Given the description of an element on the screen output the (x, y) to click on. 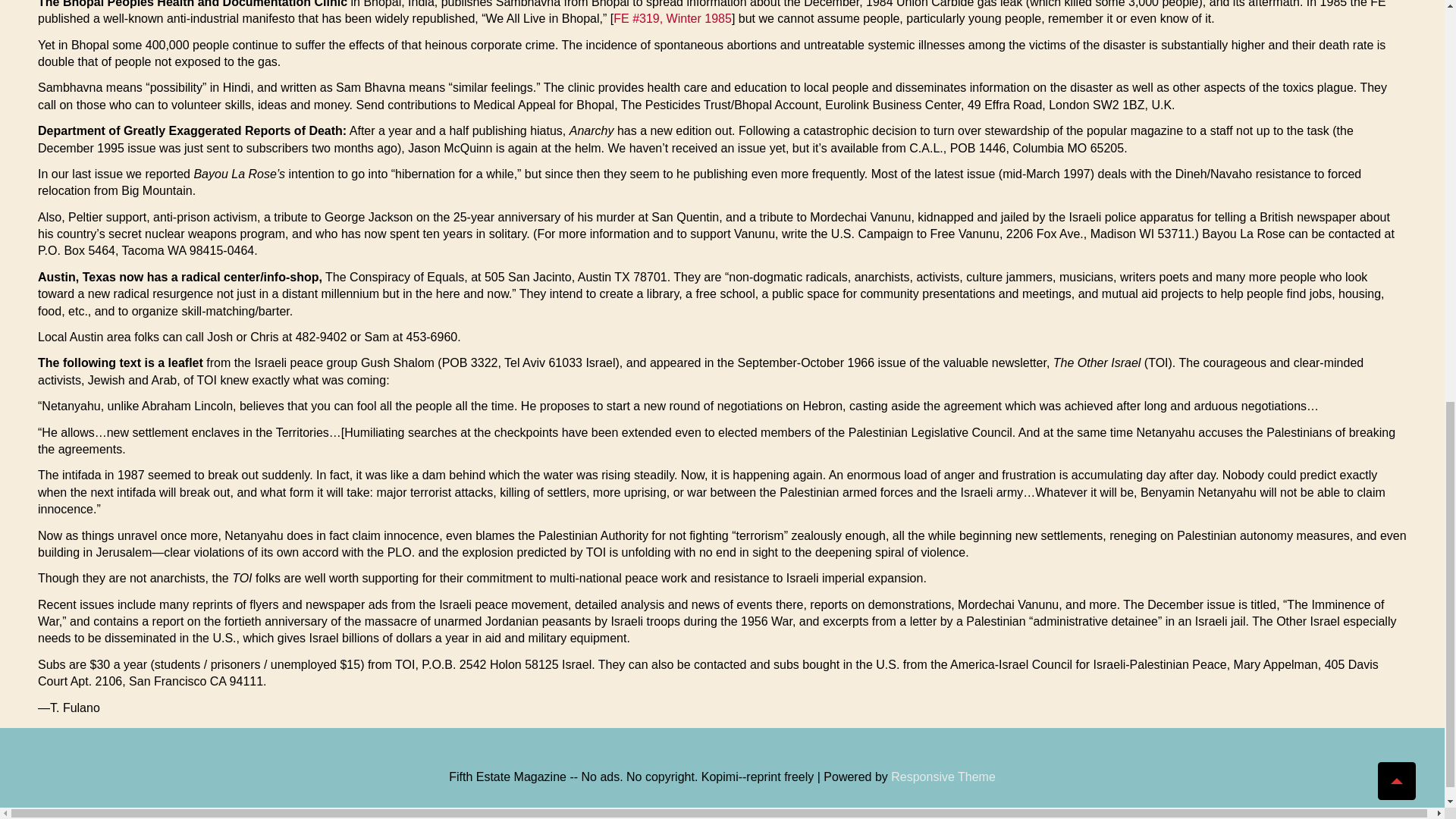
Responsive Theme (943, 776)
